Given the description of an element on the screen output the (x, y) to click on. 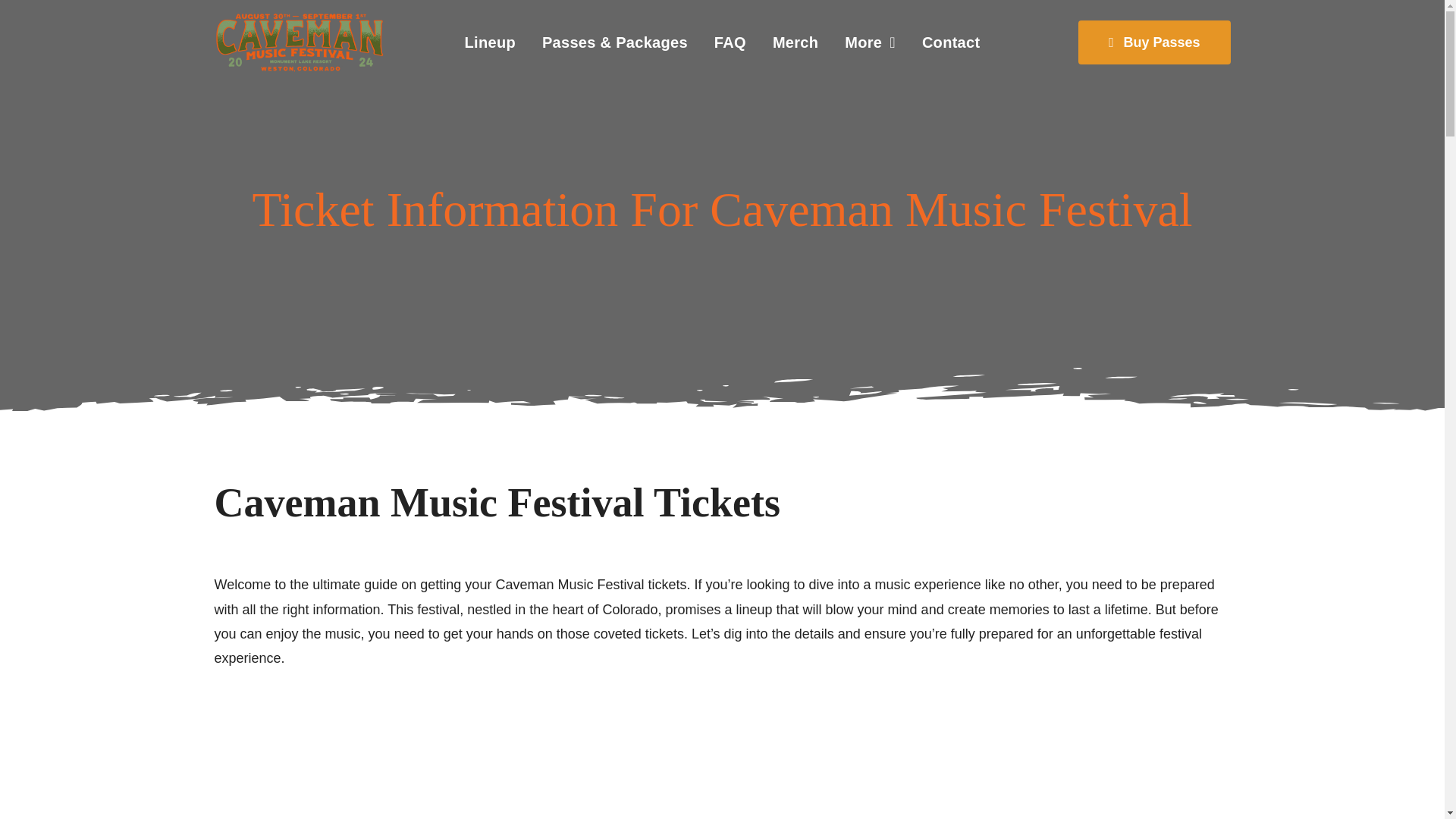
FAQ (730, 42)
Buy Passes (1154, 42)
Contact (951, 42)
More (869, 42)
Merch (795, 42)
Lineup (489, 42)
